Given the description of an element on the screen output the (x, y) to click on. 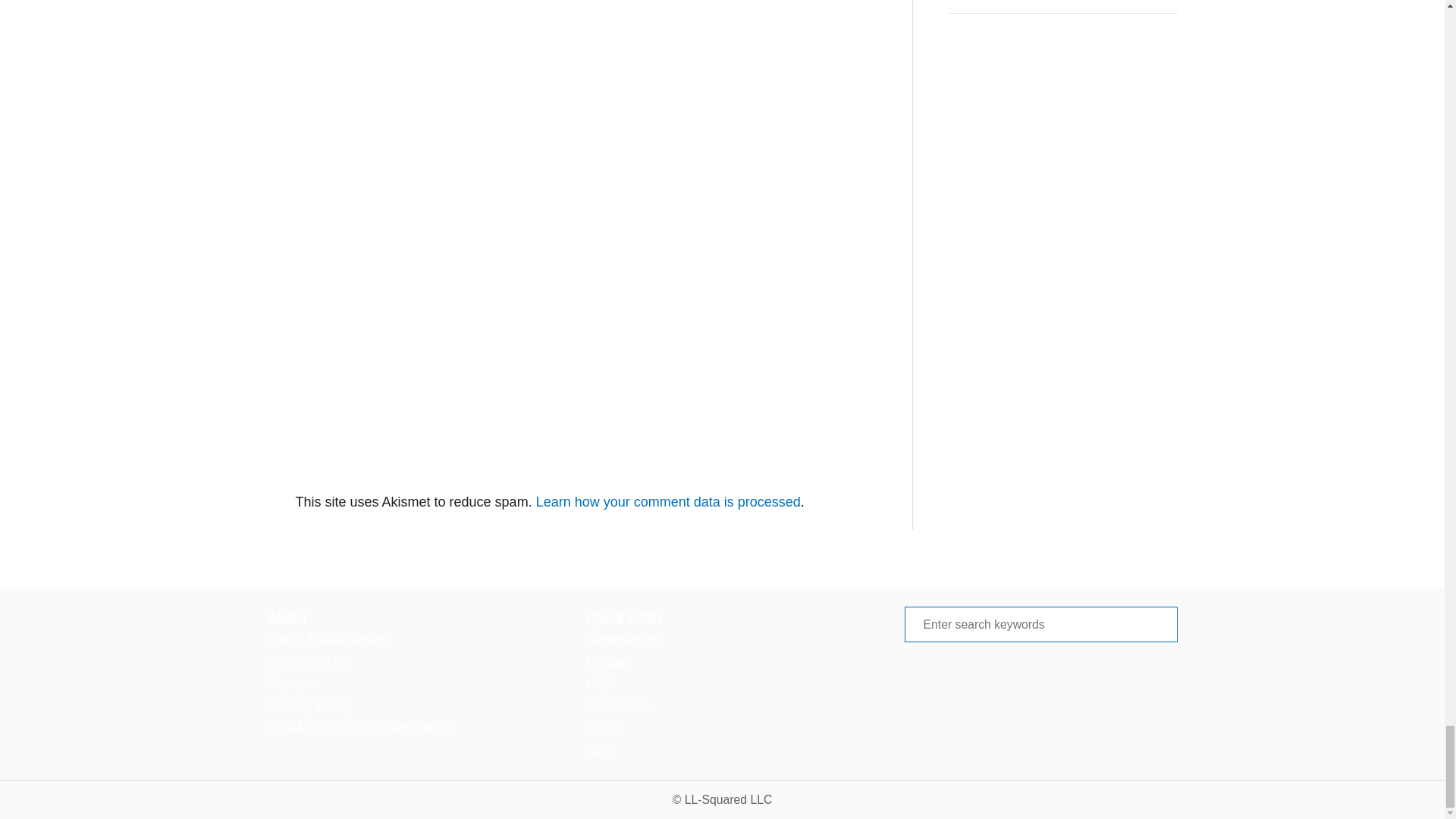
Search for: (1040, 624)
